Given the description of an element on the screen output the (x, y) to click on. 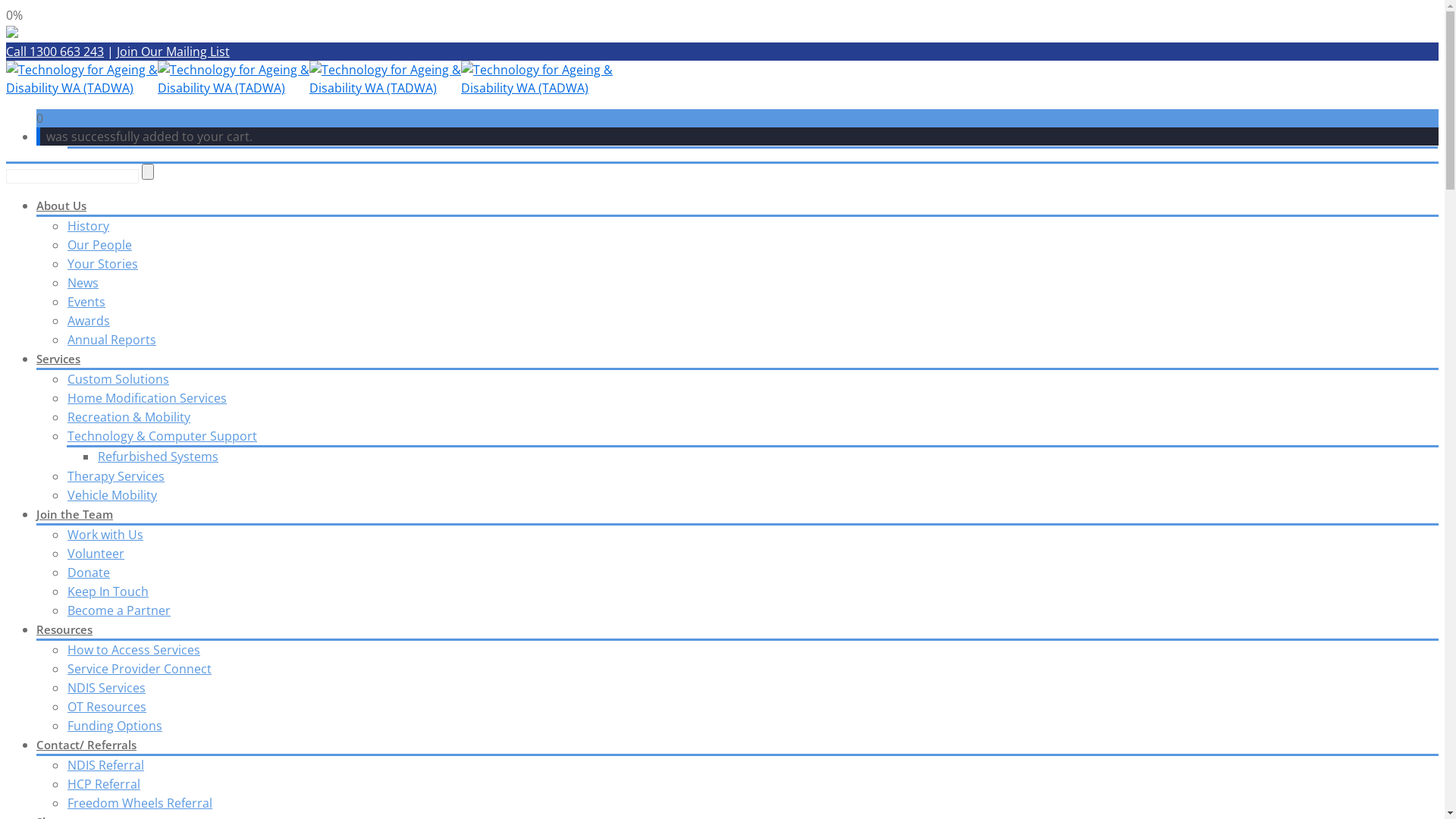
NDIS Services Element type: text (105, 687)
Technology for Ageing & Disability WA (TADWA) Element type: hover (385, 78)
Technology for Ageing & Disability WA (TADWA) Element type: hover (233, 78)
Service Provider Connect Element type: text (138, 668)
How to Access Services Element type: text (133, 649)
History Element type: text (87, 225)
Technology for Ageing & Disability WA (TADWA) Element type: hover (536, 78)
Volunteer Element type: text (95, 553)
Freedom Wheels Referral Element type: text (139, 802)
Join Our Mailing List Element type: text (172, 51)
NDIS Referral Element type: text (105, 764)
Vehicle Mobility Element type: text (111, 494)
Technology & Computer Support Element type: text (161, 435)
About Us Element type: text (61, 205)
Services Element type: text (58, 358)
Funding Options Element type: text (114, 725)
Our People Element type: text (98, 244)
Contact/ Referrals Element type: text (86, 744)
OT Resources Element type: text (106, 706)
Home Modification Services Element type: text (146, 397)
Become a Partner Element type: text (118, 610)
Work with Us Element type: text (104, 534)
Call 1300 663 243 Element type: text (54, 51)
Join the Team Element type: text (74, 513)
Recreation & Mobility Element type: text (128, 416)
Events Element type: text (85, 301)
Custom Solutions Element type: text (117, 378)
Resources Element type: text (64, 629)
Awards Element type: text (87, 320)
Annual Reports Element type: text (111, 339)
Donate Element type: text (87, 572)
HCP Referral Element type: text (103, 783)
News Element type: text (82, 282)
Therapy Services Element type: text (115, 475)
Keep In Touch Element type: text (107, 591)
Your Stories Element type: text (102, 263)
Technology for Ageing & Disability WA (TADWA) Element type: hover (81, 78)
Refurbished Systems Element type: text (157, 456)
